Given the description of an element on the screen output the (x, y) to click on. 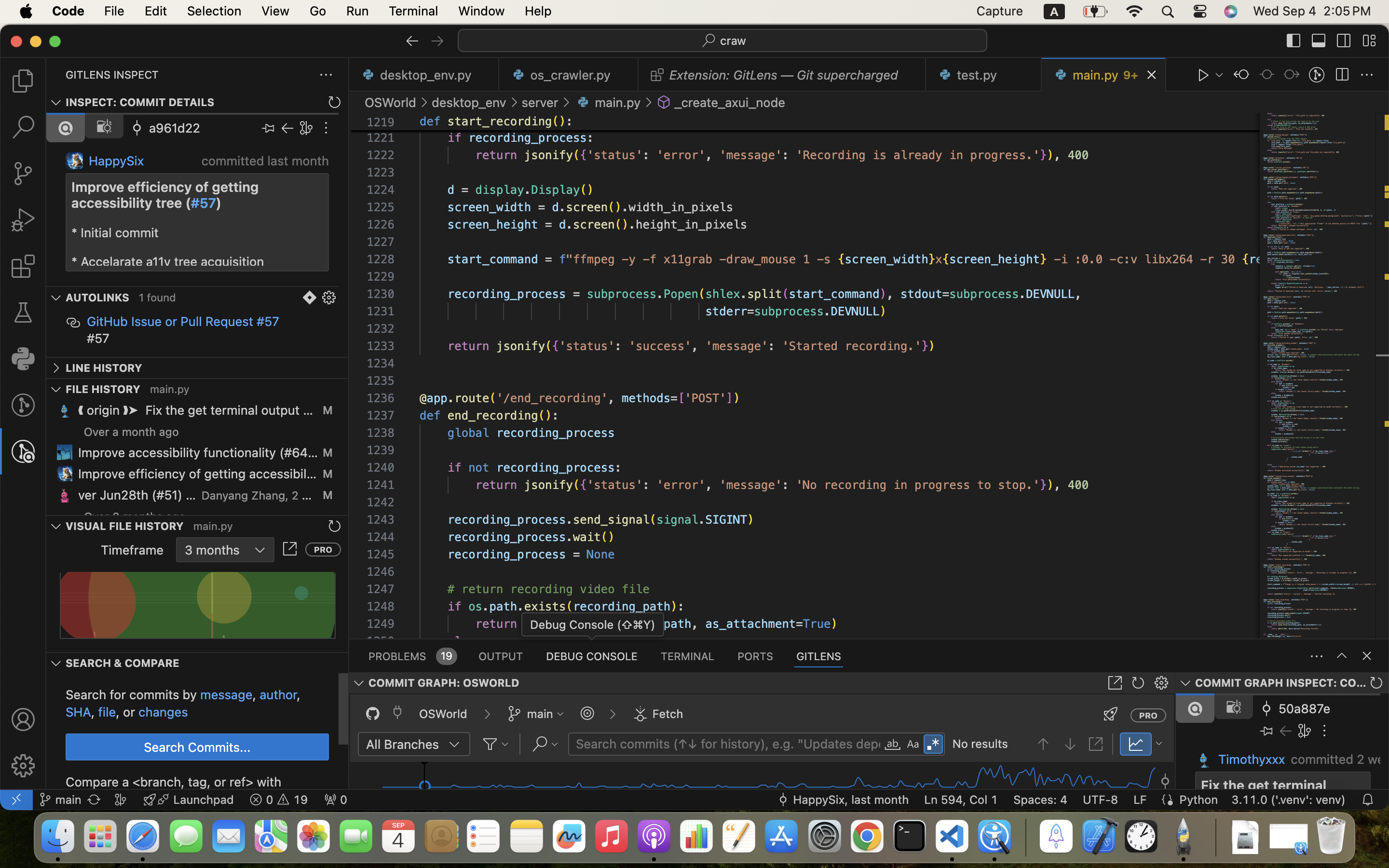
 Element type: AXStaticText (136, 127)
 Element type: AXStaticText (103, 126)
main.py Element type: AXStaticText (212, 525)
 Element type: AXCheckBox (933, 744)
3 months Element type: AXStaticText (212, 549)
